Given the description of an element on the screen output the (x, y) to click on. 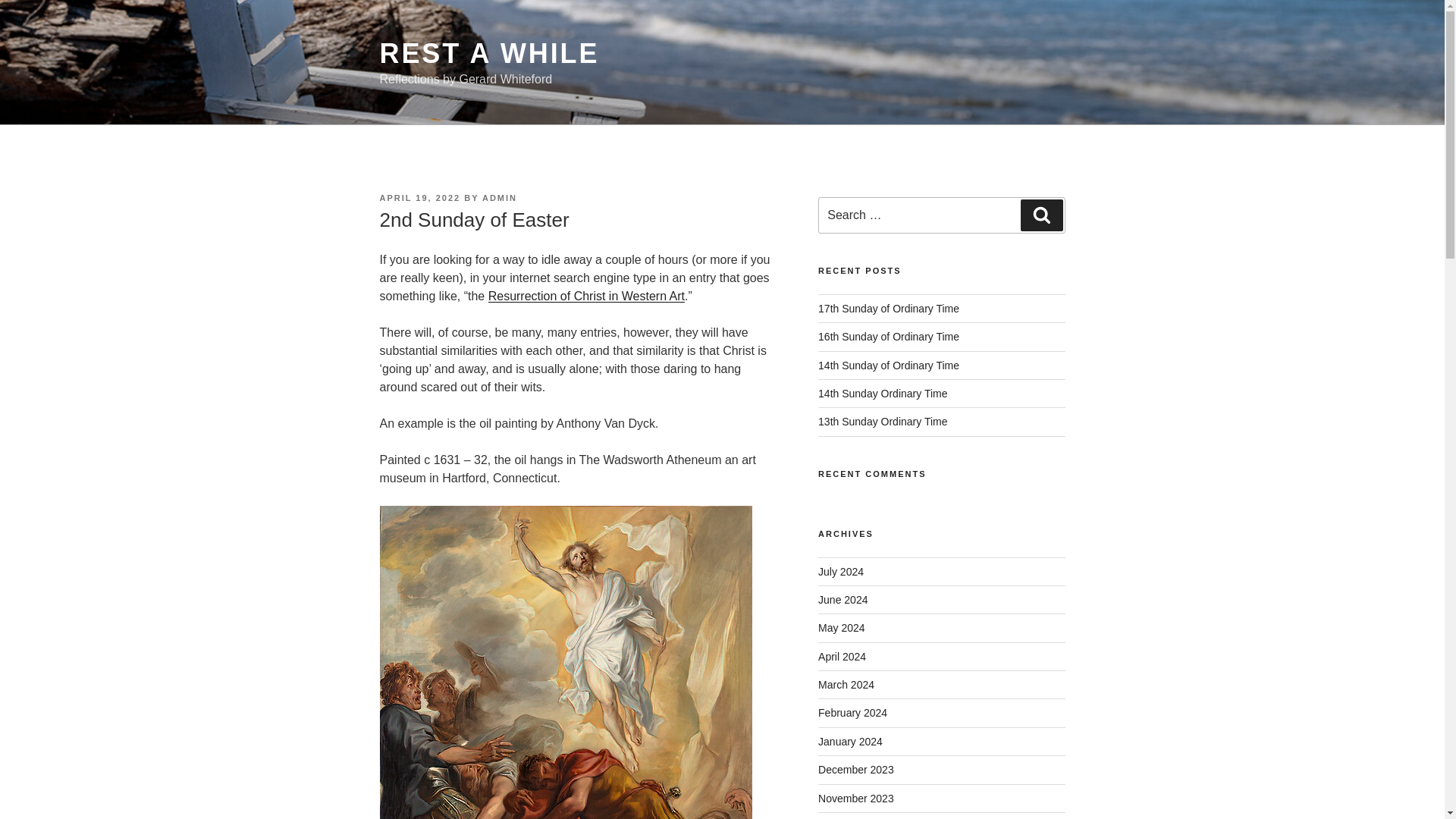
Search (1041, 214)
March 2024 (846, 684)
13th Sunday Ordinary Time (882, 421)
December 2023 (855, 769)
May 2024 (841, 627)
14th Sunday of Ordinary Time (888, 365)
14th Sunday Ordinary Time (882, 393)
November 2023 (855, 798)
ADMIN (498, 197)
Resurrection of Christ in Western Art (585, 295)
January 2024 (850, 741)
July 2024 (840, 571)
April 2024 (842, 656)
REST A WHILE (488, 52)
June 2024 (842, 599)
